Given the description of an element on the screen output the (x, y) to click on. 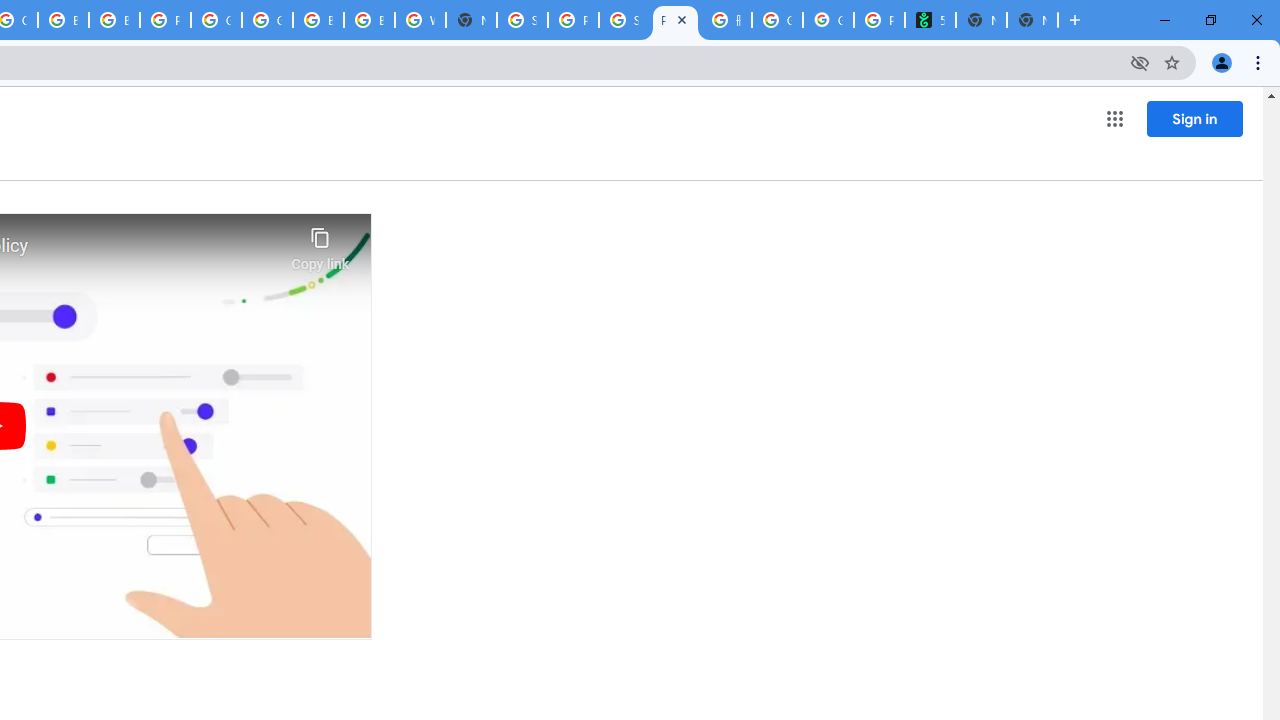
Copy link (319, 244)
Browse Chrome as a guest - Computer - Google Chrome Help (318, 20)
New Tab (470, 20)
Browse Chrome as a guest - Computer - Google Chrome Help (63, 20)
New Tab (1032, 20)
